Given the description of an element on the screen output the (x, y) to click on. 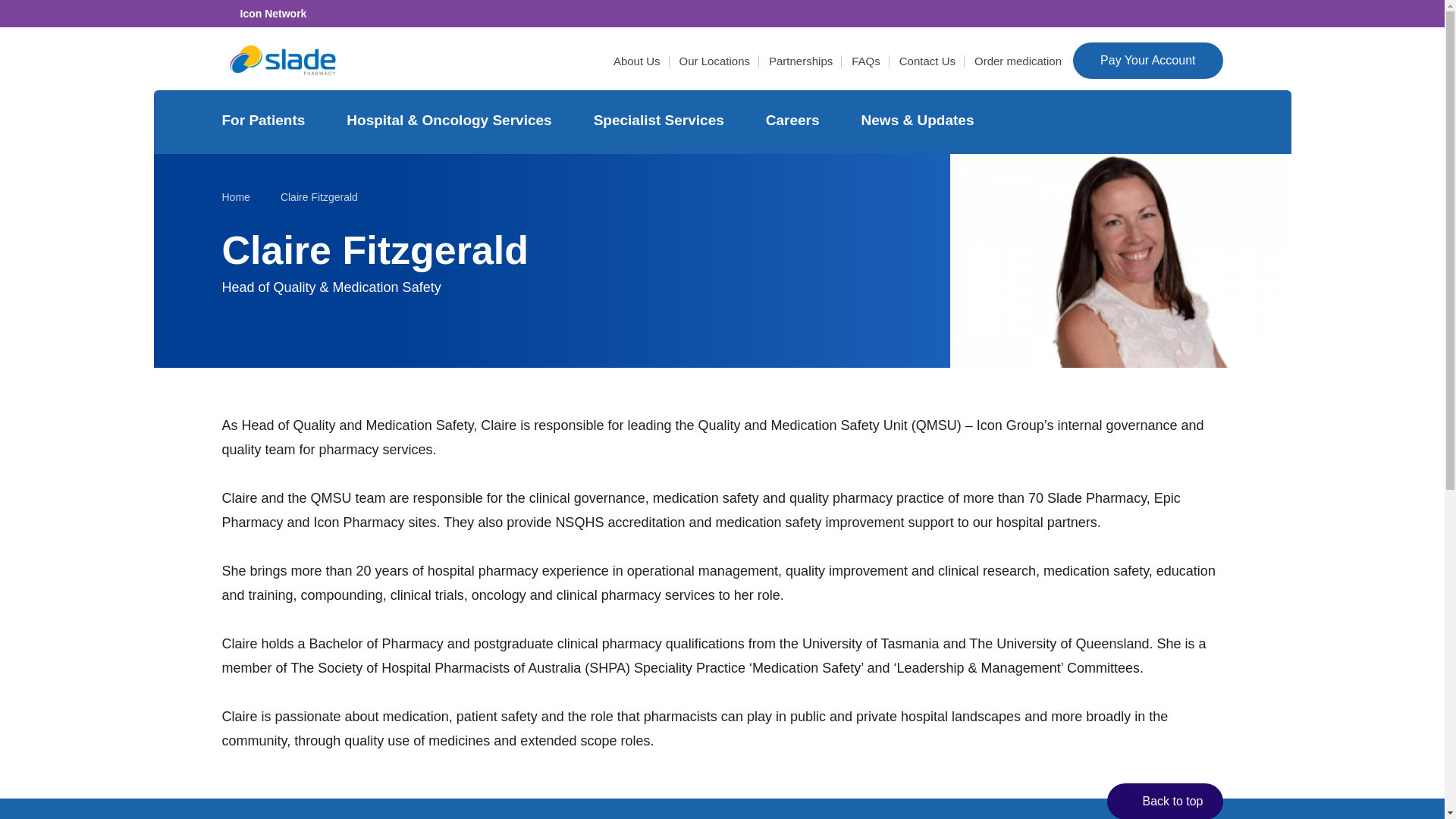
Order medication (1017, 61)
For Patients (266, 121)
Partnerships (800, 61)
About Us (636, 61)
Contact Us (927, 61)
Our Locations (714, 61)
Specialist Services (660, 121)
Pay Your Account (1148, 60)
FAQs (865, 61)
